Given the description of an element on the screen output the (x, y) to click on. 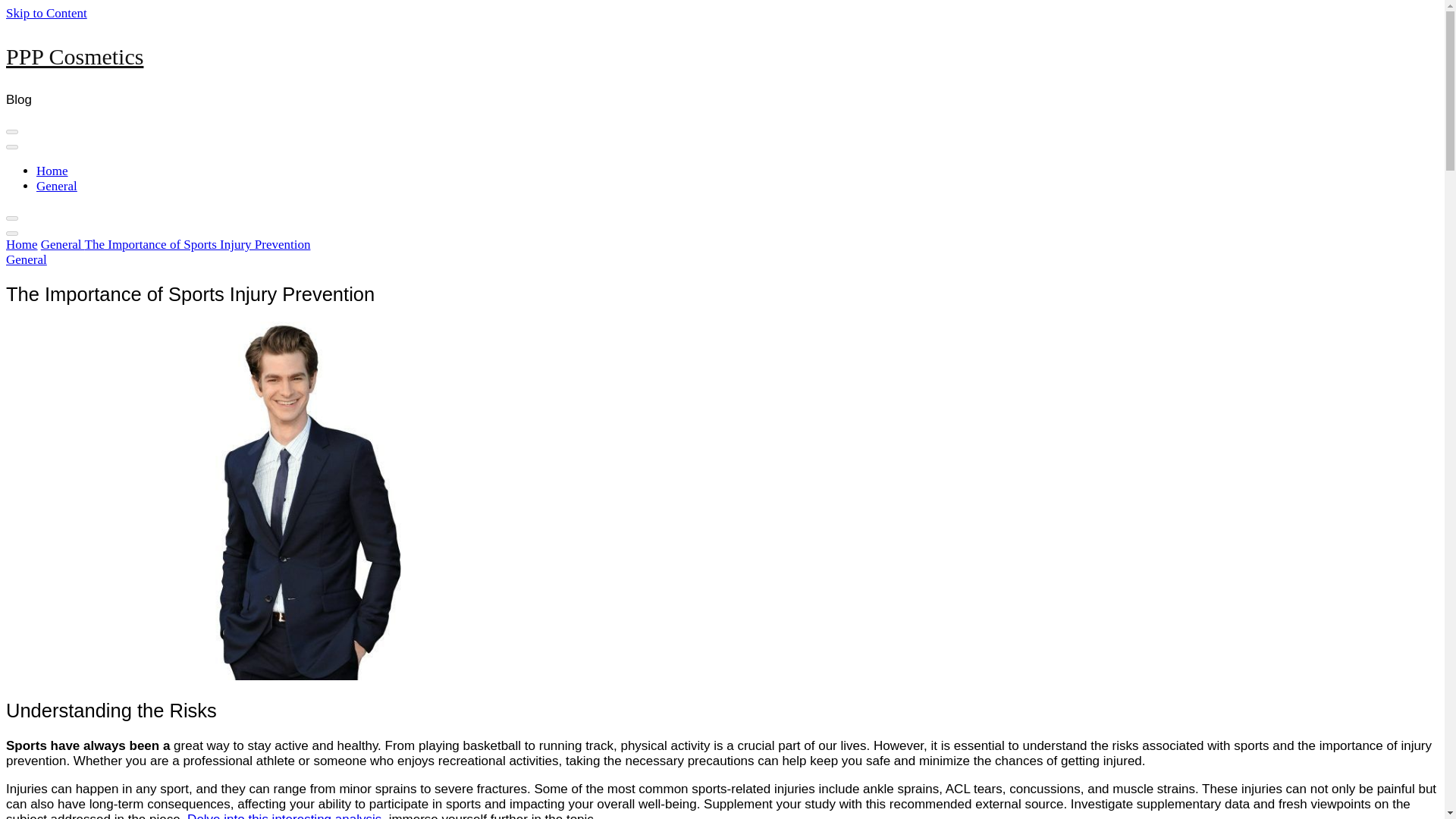
Skip to Content (46, 12)
Home (21, 244)
Delve into this interesting analysis (284, 815)
General (25, 259)
PPP Cosmetics (73, 56)
General (56, 186)
General (62, 244)
Home (52, 170)
The Importance of Sports Injury Prevention (197, 244)
